Given the description of an element on the screen output the (x, y) to click on. 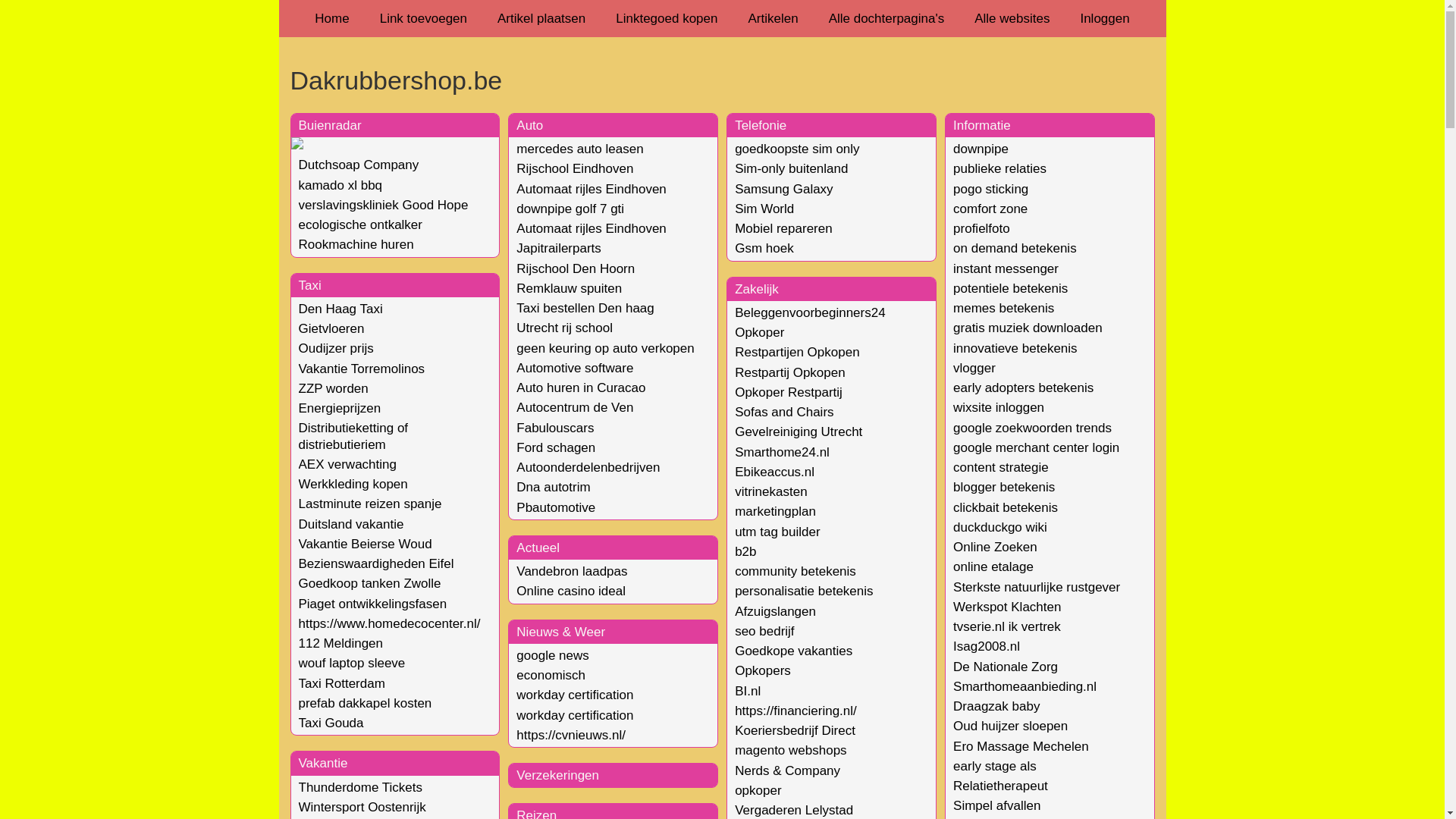
Thunderdome Tickets Element type: text (360, 787)
Gevelreiniging Utrecht Element type: text (798, 431)
Auto Element type: text (529, 125)
Werkspot Klachten Element type: text (1006, 606)
https://www.homedecocenter.nl/ Element type: text (389, 623)
Wintersport Oostenrijk Element type: text (362, 807)
Taxi Rotterdam Element type: text (341, 683)
Alle websites Element type: text (1011, 18)
kamado xl bbq Element type: text (340, 185)
Alle dochterpagina's Element type: text (886, 18)
Opkoper Restpartij Element type: text (788, 392)
Auto huren in Curacao Element type: text (580, 387)
Rijschool Eindhoven Element type: text (574, 168)
vitrinekasten Element type: text (770, 491)
Automaat rijles Eindhoven Element type: text (591, 228)
google zoekwoorden trends Element type: text (1032, 427)
Goedkoop tanken Zwolle Element type: text (369, 583)
Vakantie Element type: text (323, 763)
downpipe golf 7 gti Element type: text (570, 208)
Gietvloeren Element type: text (331, 328)
BI.nl Element type: text (747, 691)
Restpartij Opkopen Element type: text (789, 372)
Relatietherapeut Element type: text (1000, 785)
comfort zone Element type: text (990, 208)
Inloggen Element type: text (1104, 18)
clickbait betekenis Element type: text (1005, 507)
Artikel plaatsen Element type: text (541, 18)
geen keuring op auto verkopen Element type: text (604, 348)
Goedkope vakanties Element type: text (793, 650)
Linktegoed kopen Element type: text (666, 18)
Vandebron laadpas Element type: text (571, 571)
prefab dakkapel kosten Element type: text (365, 703)
online etalage Element type: text (993, 566)
Draagzak baby Element type: text (996, 706)
Oudijzer prijs Element type: text (335, 348)
Rijschool Den Hoorn Element type: text (575, 268)
Autoonderdelenbedrijven Element type: text (587, 467)
Nieuws & Weer Element type: text (560, 631)
Beleggenvoorbeginners24 Element type: text (809, 312)
Sofas and Chairs Element type: text (783, 411)
Bezienswaardigheden Eifel Element type: text (376, 563)
Fabulouscars Element type: text (554, 427)
Gsm hoek Element type: text (763, 248)
vlogger Element type: text (974, 367)
Dakrubbershop.be Element type: text (721, 80)
Isag2008.nl Element type: text (986, 646)
instant messenger Element type: text (1005, 268)
mercedes auto leasen Element type: text (579, 148)
Afzuigslangen Element type: text (774, 611)
personalisatie betekenis Element type: text (803, 590)
content strategie Element type: text (1000, 467)
goedkoopste sim only Element type: text (796, 148)
Restpartijen Opkopen Element type: text (796, 352)
https://financiering.nl/ Element type: text (795, 710)
downpipe Element type: text (980, 148)
magento webshops Element type: text (790, 750)
early stage als Element type: text (994, 766)
Home Element type: text (331, 18)
Japitrailerparts Element type: text (558, 248)
Utrecht rij school Element type: text (564, 327)
Pbautomotive Element type: text (555, 507)
blogger betekenis Element type: text (1003, 487)
ZZP worden Element type: text (333, 388)
google merchant center login Element type: text (1036, 447)
Rookmachine huren Element type: text (356, 244)
pogo sticking Element type: text (990, 189)
Simpel afvallen Element type: text (996, 805)
Autocentrum de Ven Element type: text (574, 407)
economisch Element type: text (550, 675)
marketingplan Element type: text (774, 511)
b2b Element type: text (745, 551)
Mobiel repareren Element type: text (783, 228)
Koeriersbedrijf Direct Element type: text (794, 730)
utm tag builder Element type: text (776, 531)
innovatieve betekenis Element type: text (1015, 348)
Taxi bestellen Den haag Element type: text (584, 308)
Sterkste natuurlijke rustgever Element type: text (1036, 587)
112 Meldingen Element type: text (340, 643)
Ero Massage Mechelen Element type: text (1020, 746)
Vakantie Torremolinos Element type: text (361, 368)
Duitsland vakantie Element type: text (351, 524)
Artikelen Element type: text (772, 18)
Vergaderen Lelystad Element type: text (793, 810)
Online casino ideal Element type: text (570, 590)
community betekenis Element type: text (795, 571)
memes betekenis Element type: text (1003, 308)
Automotive software Element type: text (574, 367)
Opkopers Element type: text (762, 670)
Vakantie Beierse Woud Element type: text (365, 543)
verslavingskliniek Good Hope Element type: text (383, 204)
https://cvnieuws.nl/ Element type: text (570, 735)
opkoper Element type: text (757, 790)
Piaget ontwikkelingsfasen Element type: text (372, 603)
tvserie.nl ik vertrek Element type: text (1006, 626)
publieke relaties Element type: text (999, 168)
Oud huijzer sloepen Element type: text (1010, 725)
Lastminute reizen spanje Element type: text (370, 503)
workday certification Element type: text (574, 694)
google news Element type: text (552, 655)
Remklauw spuiten Element type: text (568, 288)
wixsite inloggen Element type: text (998, 407)
Nerds & Company Element type: text (787, 770)
Werkkleding kopen Element type: text (352, 483)
AEX verwachting Element type: text (347, 464)
Distributieketting of distriebutieriem Element type: text (353, 435)
Smarthome24.nl Element type: text (781, 452)
Sim-only buitenland Element type: text (790, 168)
Telefonie Element type: text (760, 125)
workday certification Element type: text (574, 715)
wouf laptop sleeve Element type: text (351, 662)
Samsung Galaxy Element type: text (783, 189)
Ford schagen Element type: text (555, 447)
Link toevoegen Element type: text (423, 18)
on demand betekenis Element type: text (1014, 248)
Automaat rijles Eindhoven Element type: text (591, 189)
Zakelijk Element type: text (756, 289)
Taxi Element type: text (309, 285)
Opkoper Element type: text (759, 332)
Online Zoeken Element type: text (995, 546)
Informatie Element type: text (981, 125)
De Nationale Zorg Element type: text (1005, 666)
Ebikeaccus.nl Element type: text (774, 471)
Smarthomeaanbieding.nl Element type: text (1024, 686)
Dutchsoap Company Element type: text (358, 164)
Taxi Gouda Element type: text (331, 722)
Verzekeringen Element type: text (557, 775)
Actueel Element type: text (537, 547)
Sim World Element type: text (763, 208)
gratis muziek downloaden Element type: text (1027, 327)
Buienradar Element type: text (329, 125)
duckduckgo wiki Element type: text (1000, 527)
profielfoto Element type: text (981, 228)
potentiele betekenis Element type: text (1010, 288)
Den Haag Taxi Element type: text (340, 308)
Dna autotrim Element type: text (552, 487)
seo bedrijf Element type: text (763, 631)
ecologische ontkalker Element type: text (360, 224)
Energieprijzen Element type: text (339, 408)
early adopters betekenis Element type: text (1023, 387)
